Given the description of an element on the screen output the (x, y) to click on. 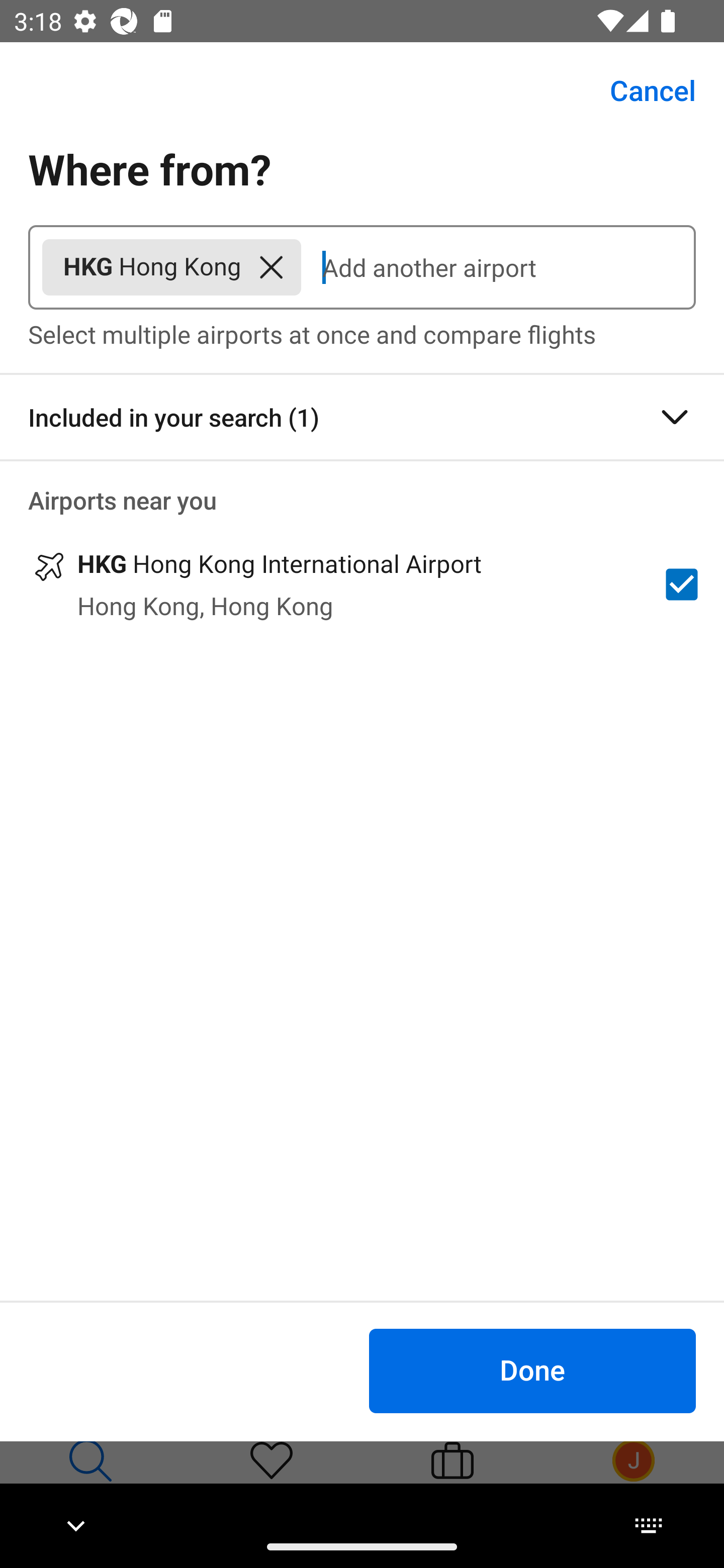
Cancel (641, 90)
Add another airport (498, 266)
HKG Hong Kong Remove HKG Hong Kong (171, 266)
Included in your search (1) (362, 416)
Done (532, 1370)
